Given the description of an element on the screen output the (x, y) to click on. 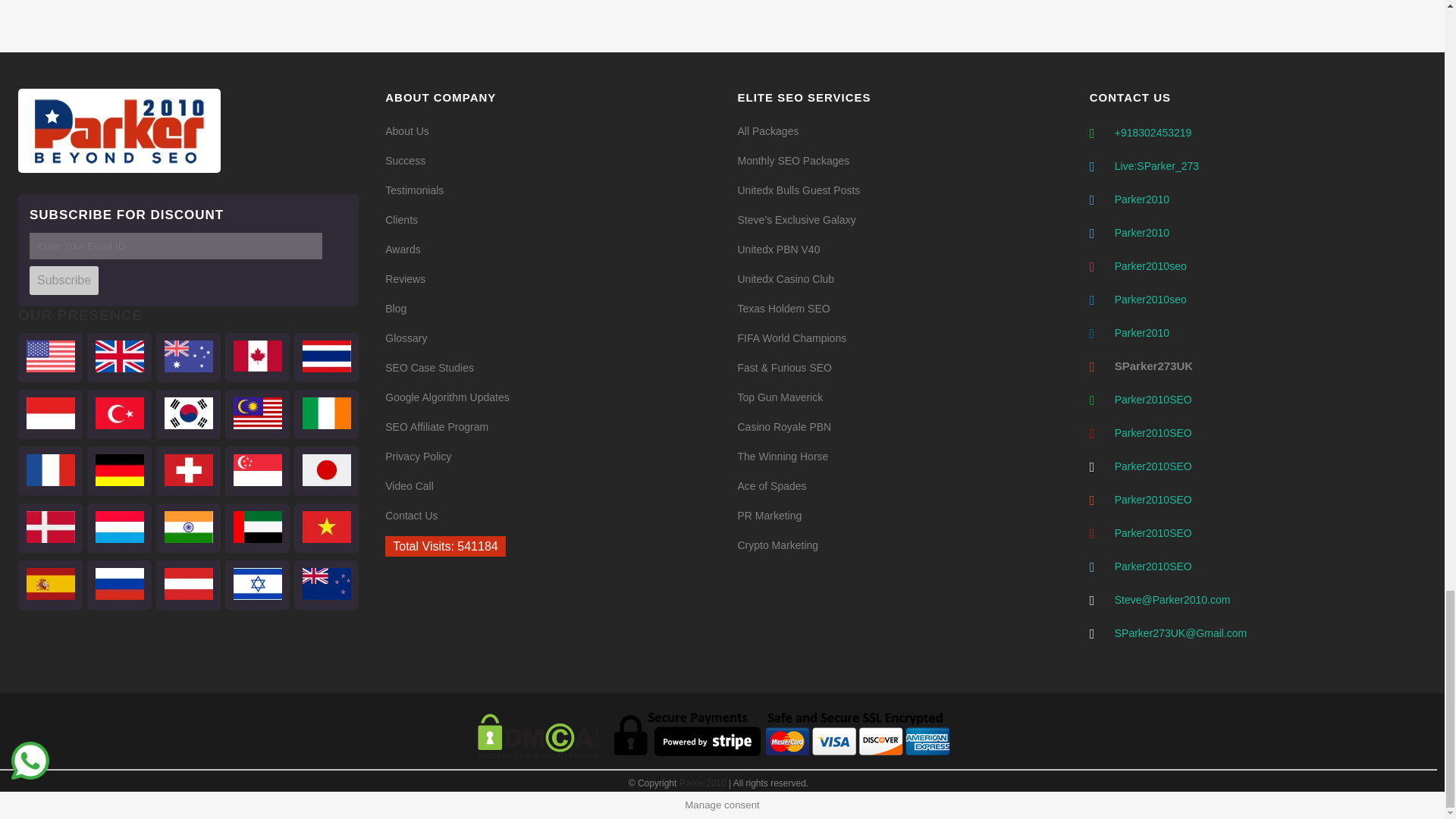
Subscribe (64, 280)
DMCA.com Protection Status (537, 756)
